Given the description of an element on the screen output the (x, y) to click on. 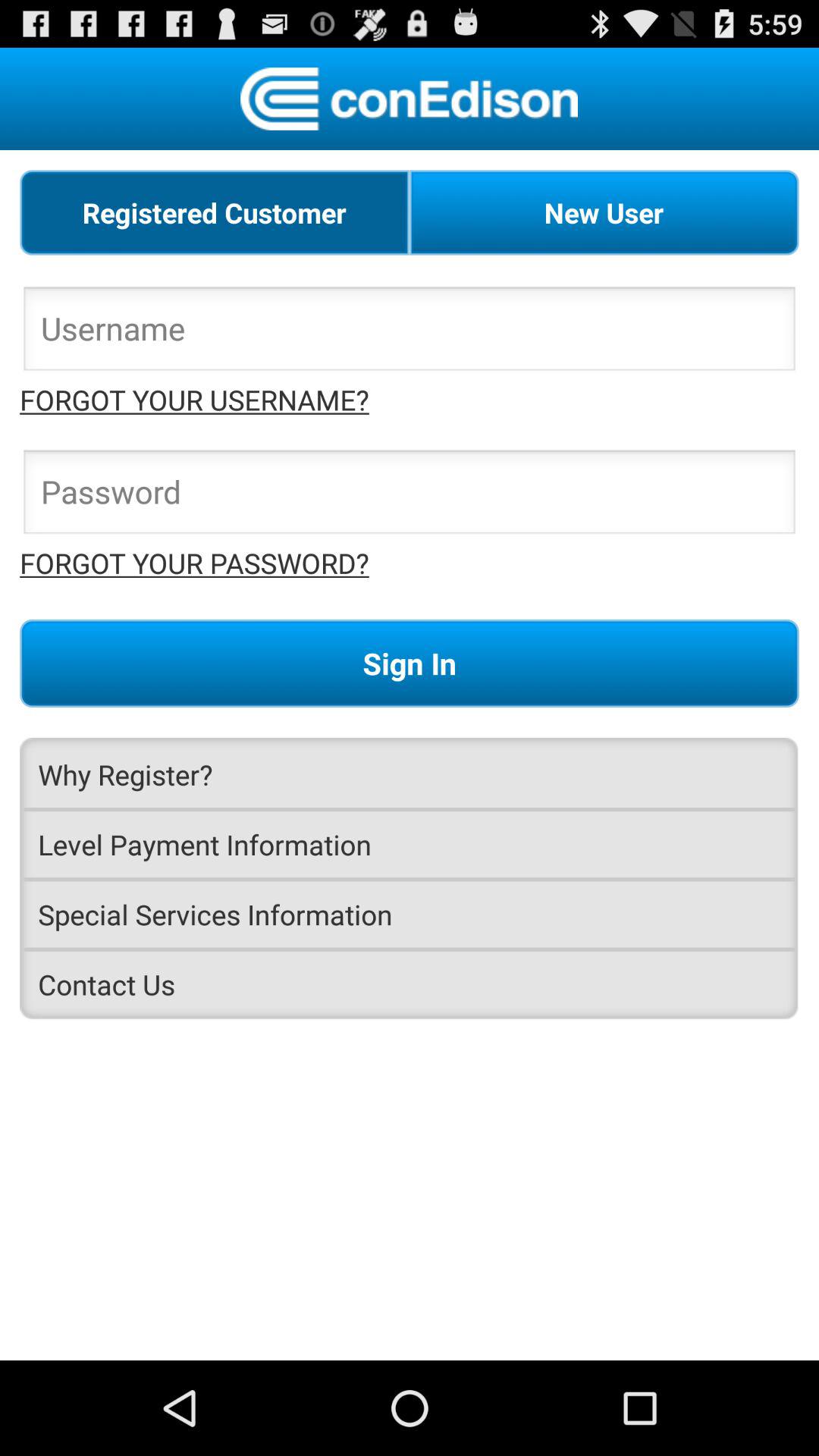
select item next to new user (214, 212)
